Given the description of an element on the screen output the (x, y) to click on. 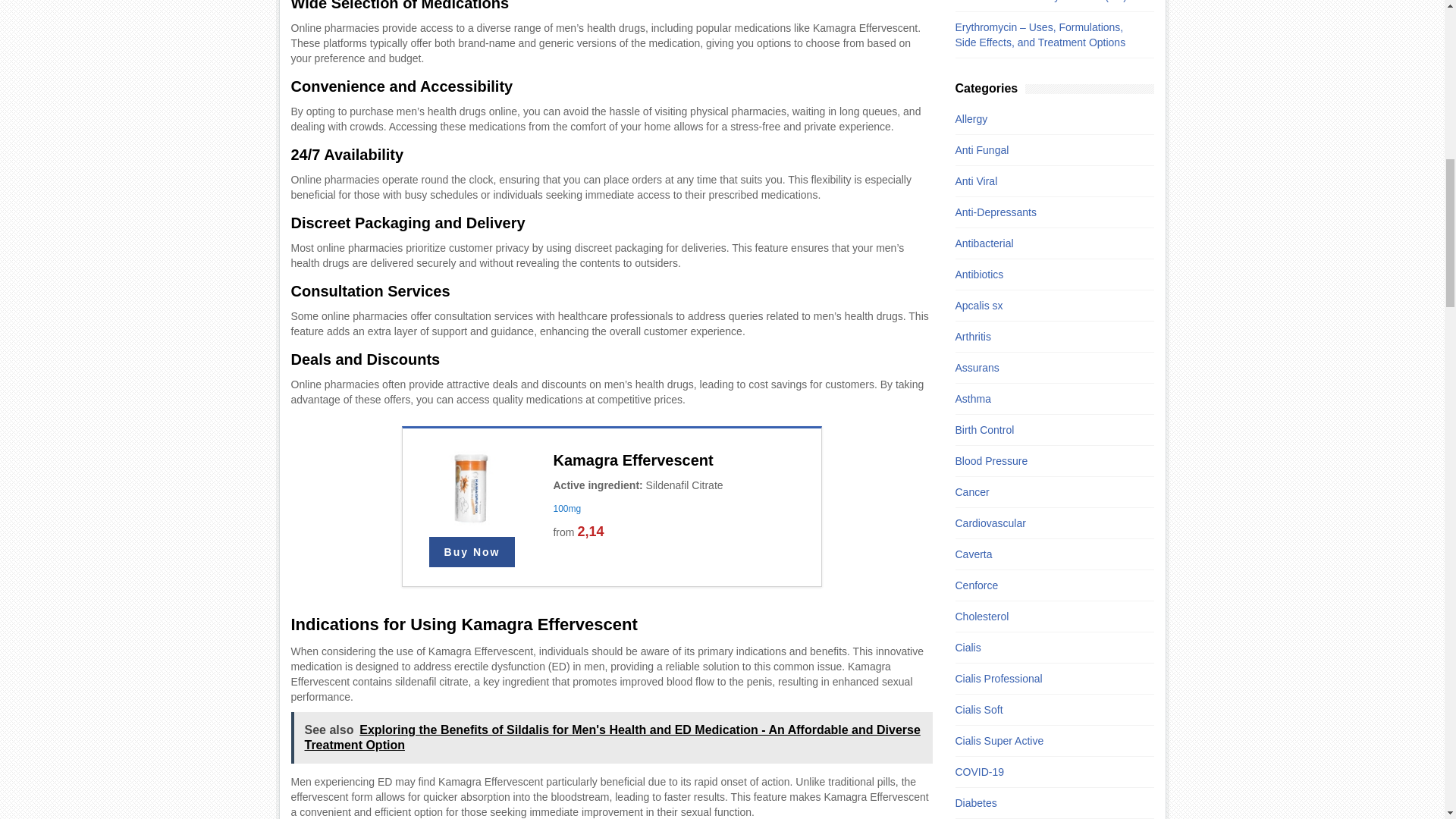
Antibiotics (1046, 273)
Buy Now (472, 552)
Allergy (1046, 118)
Blood Pressure (1046, 460)
Birth Control (1046, 429)
Buy Now (472, 552)
Cancer (1046, 491)
Asthma (1046, 398)
Antibacterial (1046, 242)
Anti Fungal (1046, 150)
Apcalis sx (1046, 305)
Anti Viral (1046, 181)
Arthritis (1046, 336)
Assurans (1046, 367)
